Given the description of an element on the screen output the (x, y) to click on. 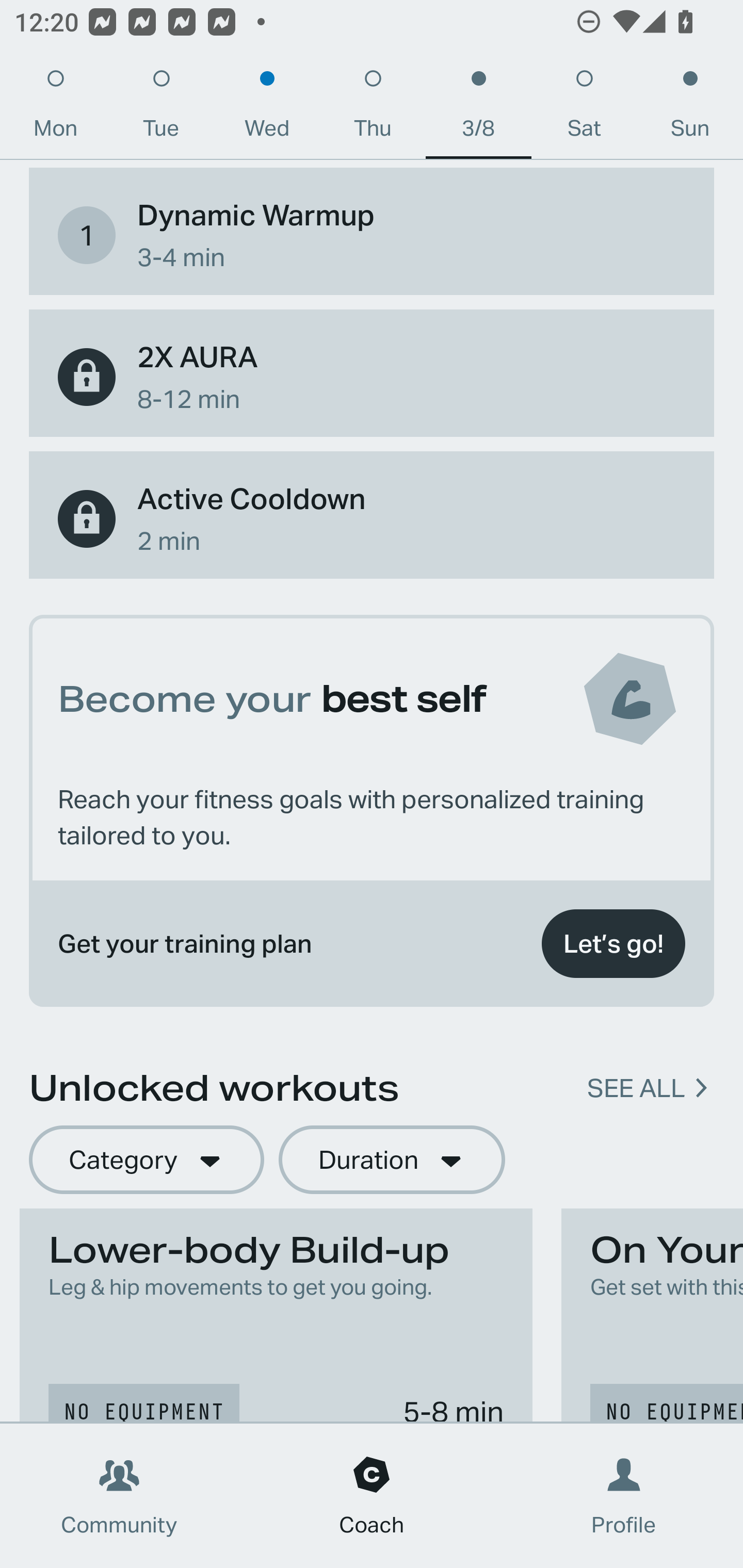
Mon (55, 108)
Tue (160, 108)
Wed (266, 108)
Thu (372, 108)
3/8 (478, 108)
Sat (584, 108)
Sun (690, 108)
1 Dynamic Warmup 3-4 min (371, 235)
2X AURA 8-12 min (371, 376)
Active Cooldown 2 min (371, 518)
Let’s go! (613, 943)
SEE ALL (635, 1088)
Category (146, 1159)
Duration (391, 1159)
Community (119, 1495)
Profile (624, 1495)
